Given the description of an element on the screen output the (x, y) to click on. 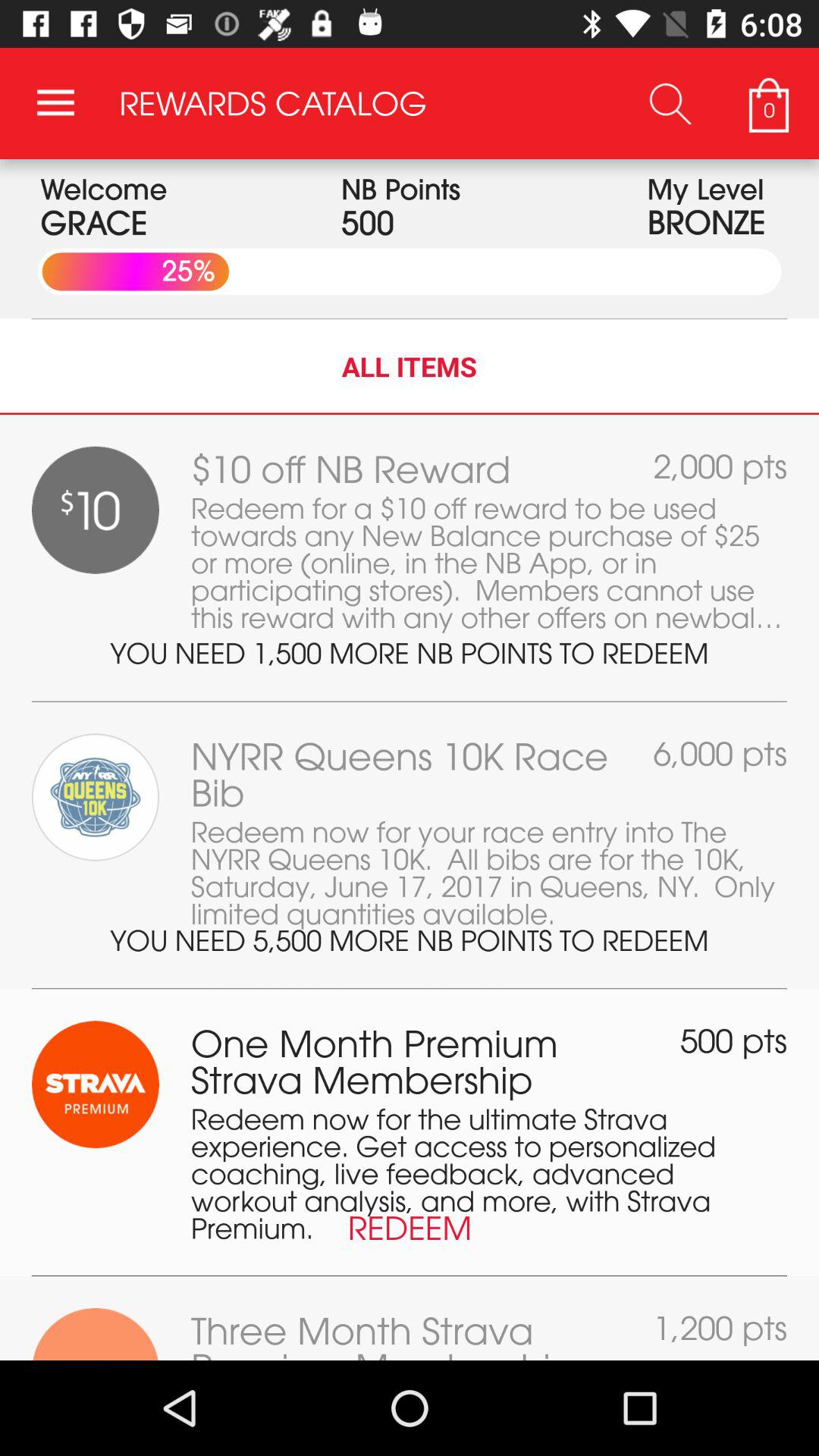
launch icon at the top left corner (55, 103)
